Given the description of an element on the screen output the (x, y) to click on. 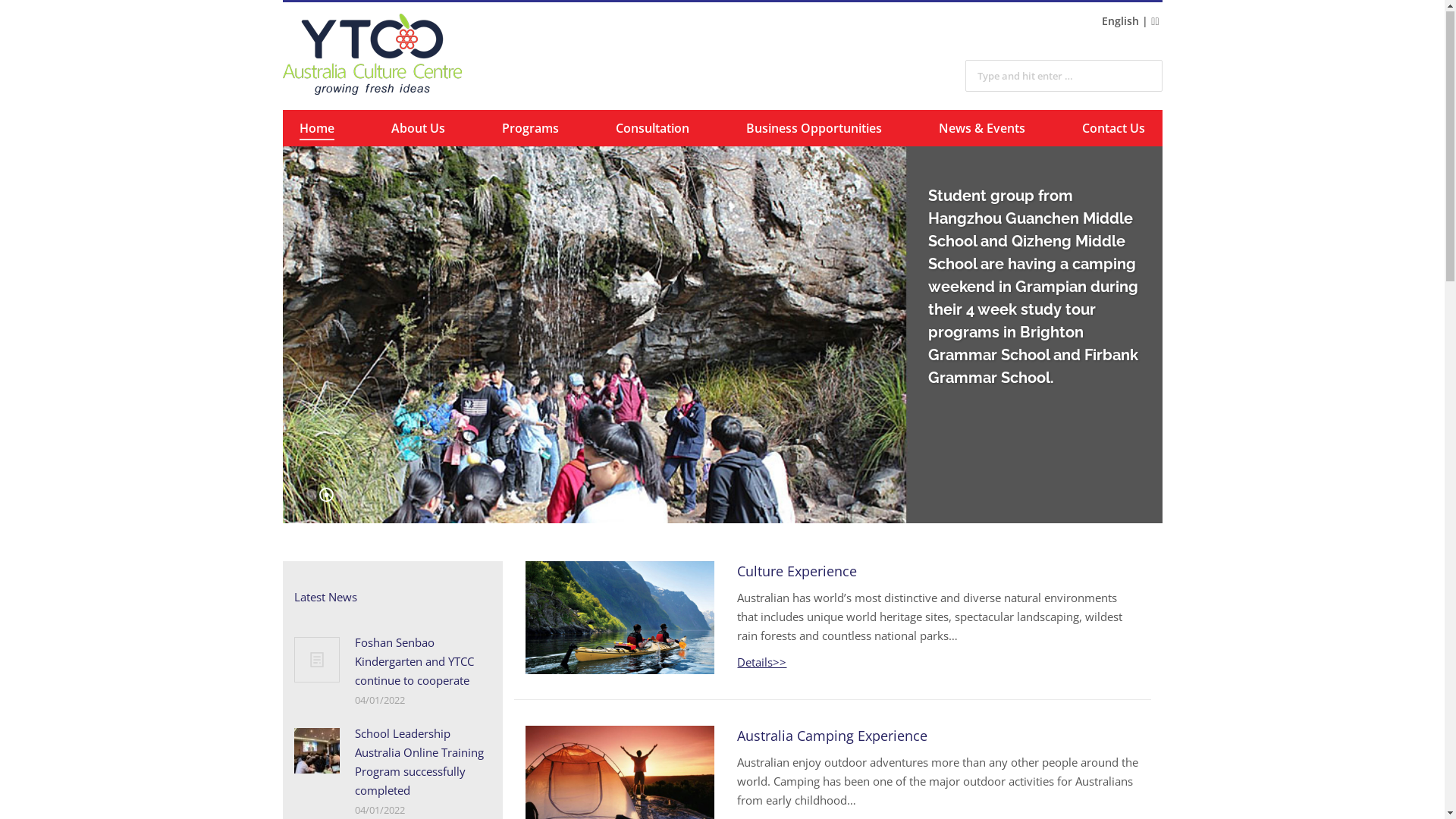
News & Events Element type: text (981, 129)
Details>> Element type: text (761, 663)
English Element type: text (1120, 22)
Contact Us Element type: text (1113, 129)
Consultation Element type: text (652, 129)
Foshan Senbao Kindergarten and YTCC continue to cooperate Element type: text (422, 662)
About Us Element type: text (418, 129)
Business Opportunities Element type: text (813, 129)
Go! Element type: text (1147, 48)
Home Element type: text (316, 129)
Programs Element type: text (530, 129)
